Given the description of an element on the screen output the (x, y) to click on. 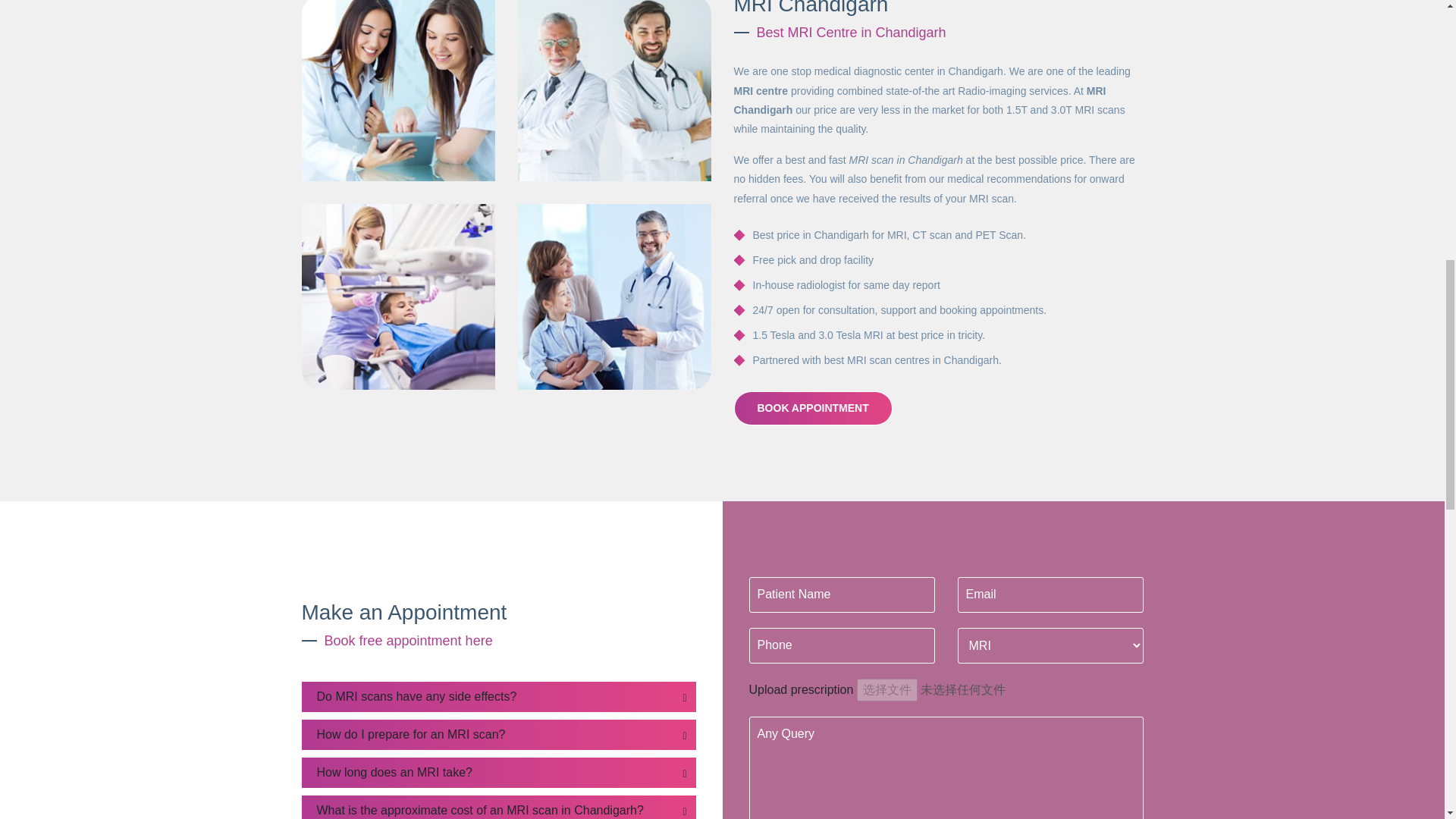
How do I prepare for an MRI scan? (498, 734)
What is the approximate cost of an MRI scan in Chandigarh? (498, 807)
Do MRI scans have any side effects? (498, 696)
BOOK APPOINTMENT (812, 408)
How long does an MRI take? (498, 772)
